Given the description of an element on the screen output the (x, y) to click on. 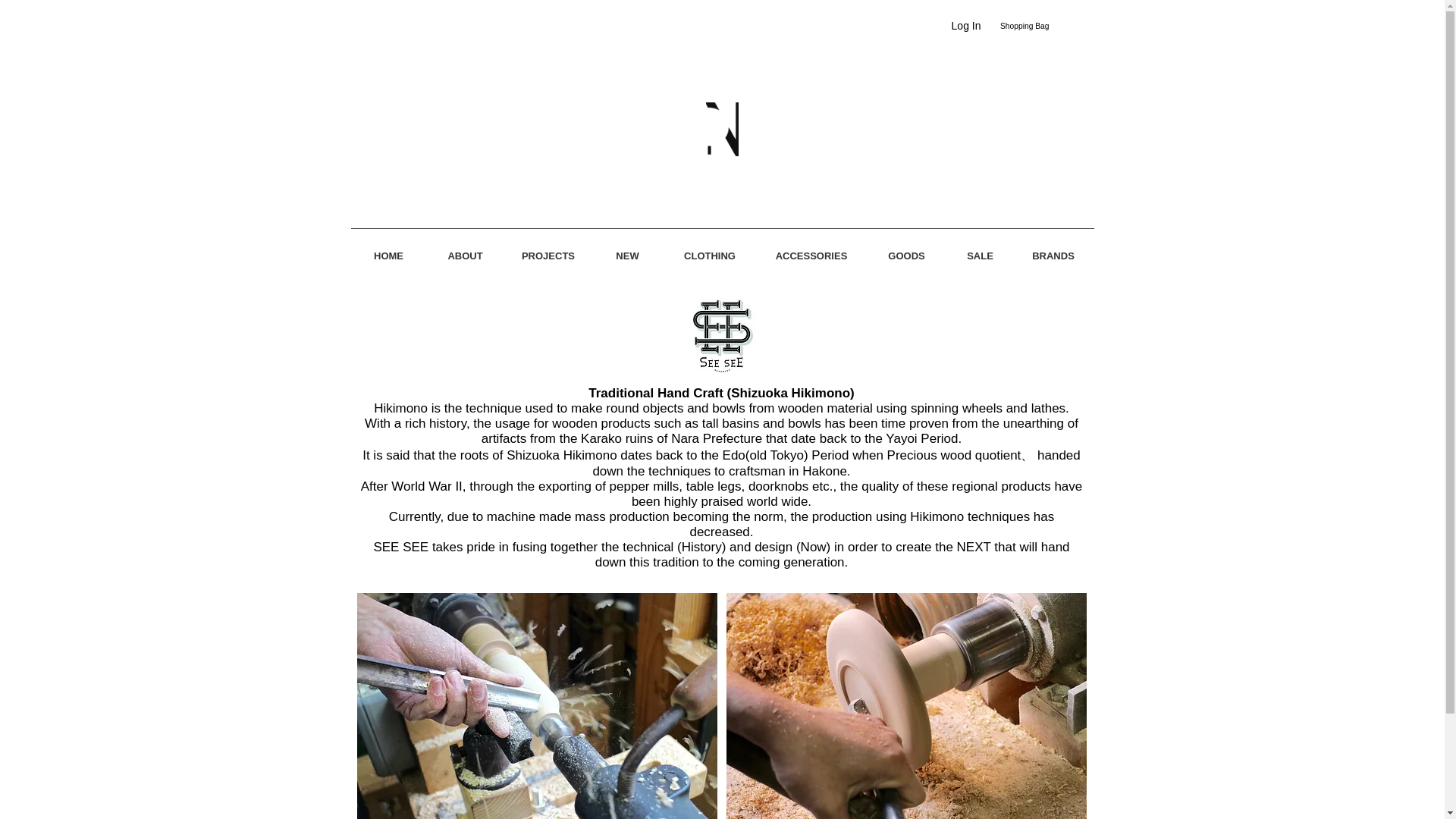
Shopping Bag (1030, 26)
Shopping Bag (1030, 26)
GOODS (906, 249)
HOME (388, 249)
Log In (965, 26)
ABOUT (464, 249)
SALE (980, 249)
BRANDS (1053, 249)
NEW (627, 249)
PROJECTS (547, 249)
CLOTHING (709, 249)
ACCESSORIES (810, 249)
